Given the description of an element on the screen output the (x, y) to click on. 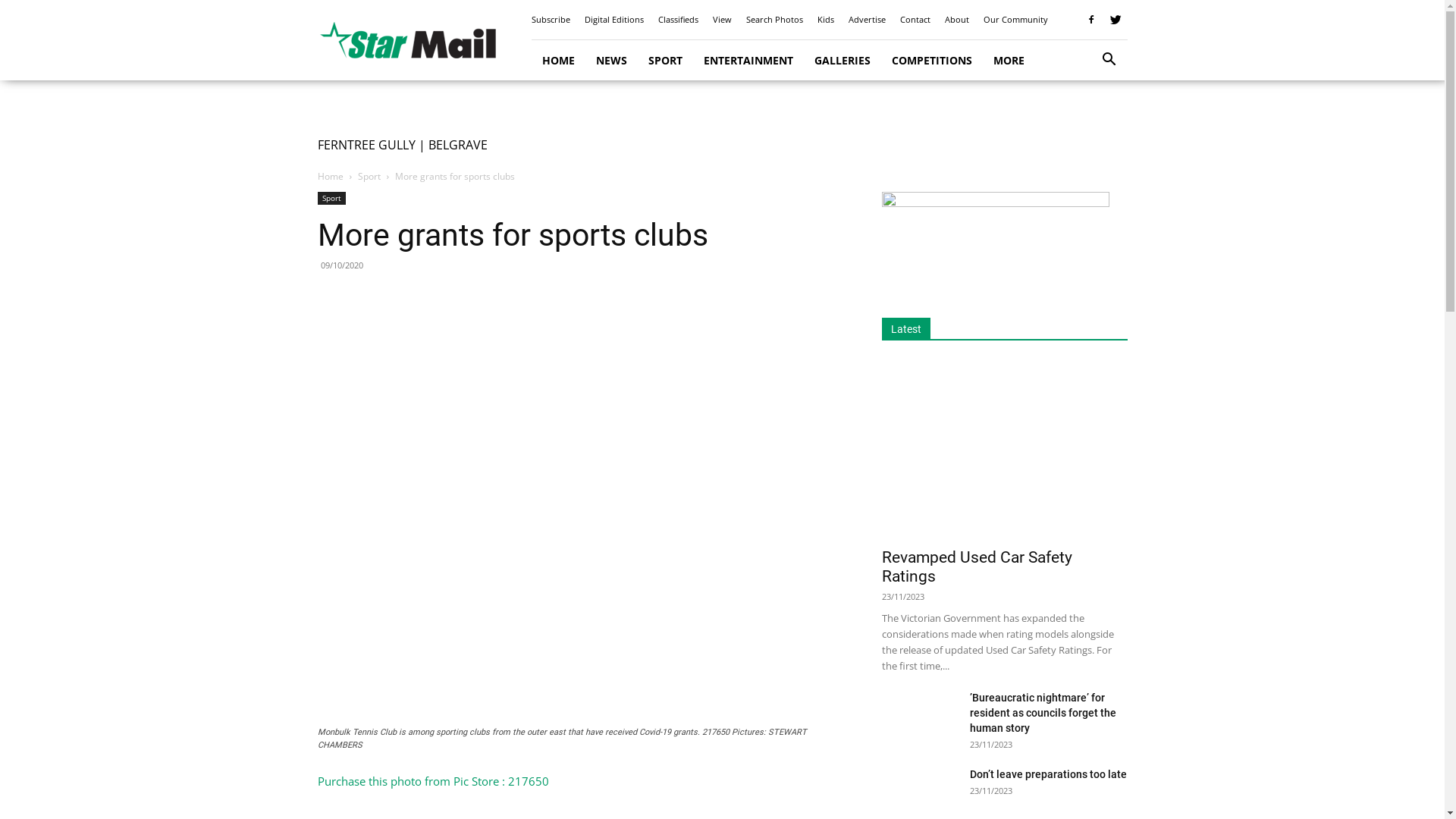
Classifieds Element type: text (678, 19)
SPORT Element type: text (664, 60)
Revamped Used Car Safety Ratings Element type: text (976, 566)
Search Element type: text (1085, 122)
About Element type: text (956, 19)
Twitter Element type: hover (1115, 19)
Digital Editions Element type: text (613, 19)
Purchase this photo from Pic Store : 217650 Element type: text (432, 780)
ENTERTAINMENT Element type: text (748, 60)
Kids Element type: text (825, 19)
Sport Element type: text (330, 197)
Advertise Element type: text (865, 19)
Our Community Element type: text (1014, 19)
Search Photos Element type: text (774, 19)
GALLERIES Element type: text (842, 60)
View Element type: text (721, 19)
Revamped Used Car Safety Ratings Element type: hover (1003, 449)
Facebook Element type: hover (1090, 19)
Subscribe Element type: text (549, 19)
NEWS Element type: text (611, 60)
Sport Element type: text (368, 175)
MORE Element type: text (1008, 60)
Contact Element type: text (914, 19)
Home Element type: text (329, 175)
HOME Element type: text (557, 60)
COMPETITIONS Element type: text (931, 60)
